Given the description of an element on the screen output the (x, y) to click on. 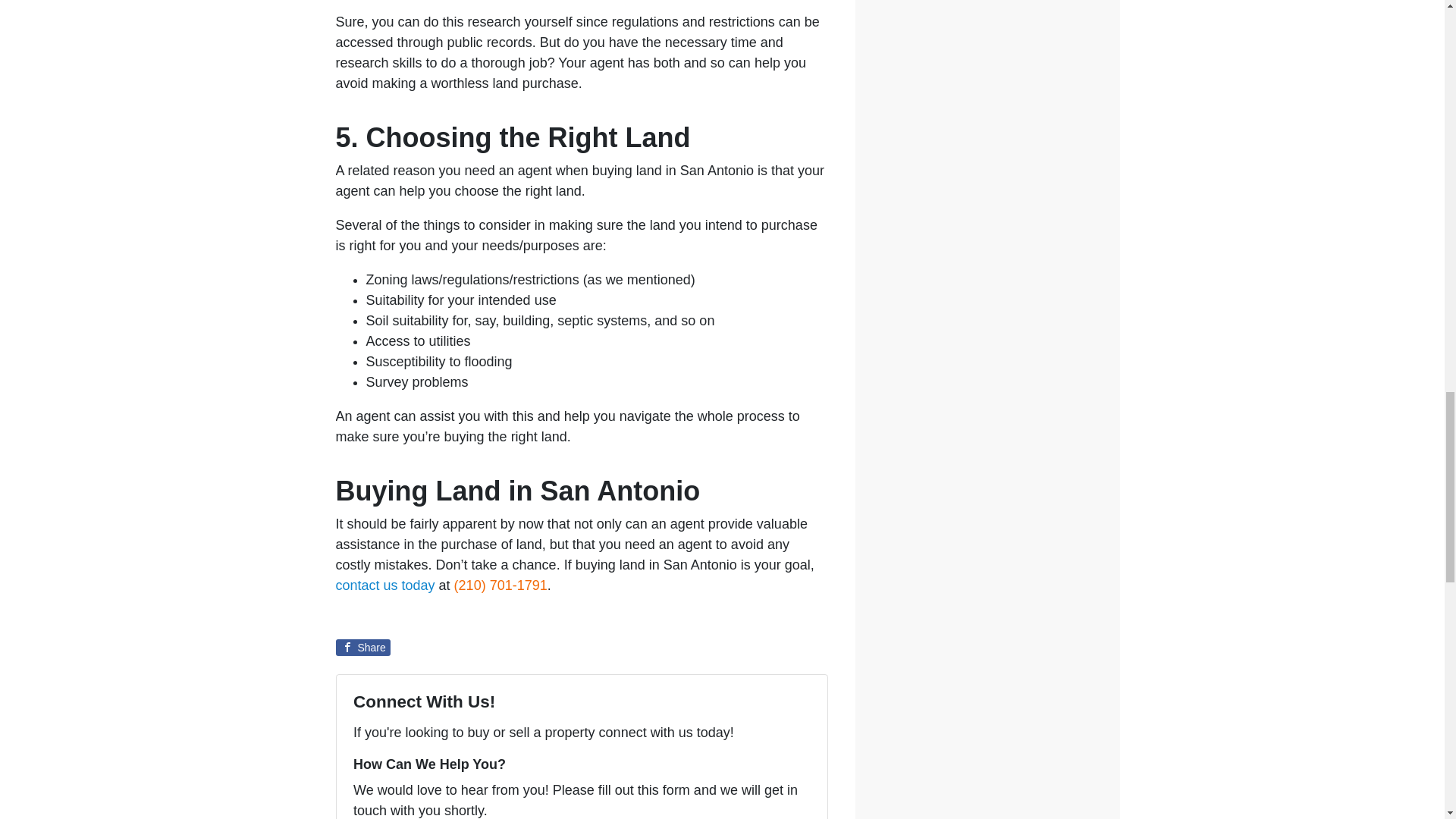
Share (362, 647)
Share on Facebook (362, 647)
contact us today (383, 585)
